Given the description of an element on the screen output the (x, y) to click on. 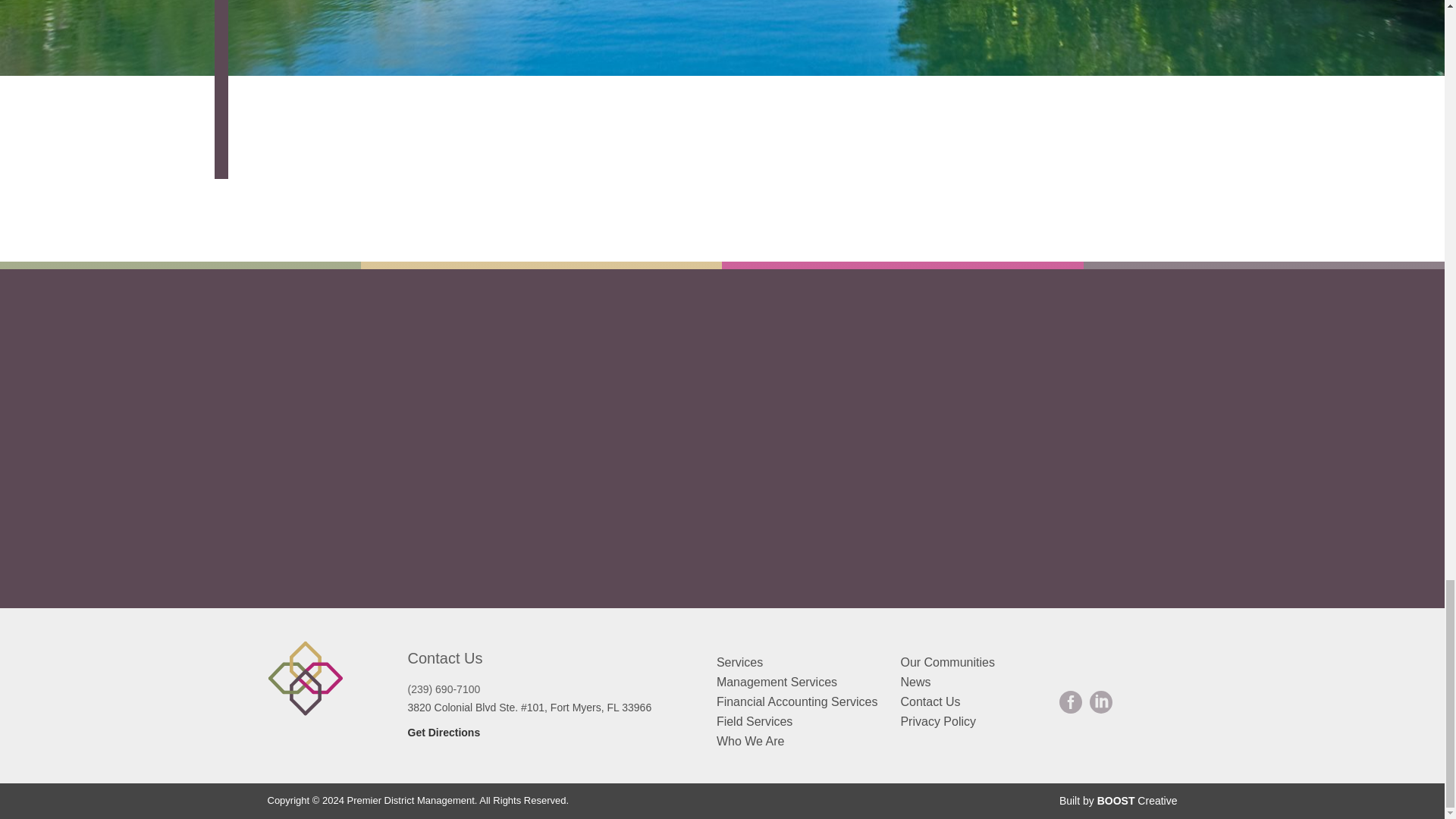
Field Services (754, 721)
Services (739, 662)
Who We Are (750, 740)
Management Services (776, 681)
Get Directions (443, 732)
Financial Accounting Services (796, 701)
